Given the description of an element on the screen output the (x, y) to click on. 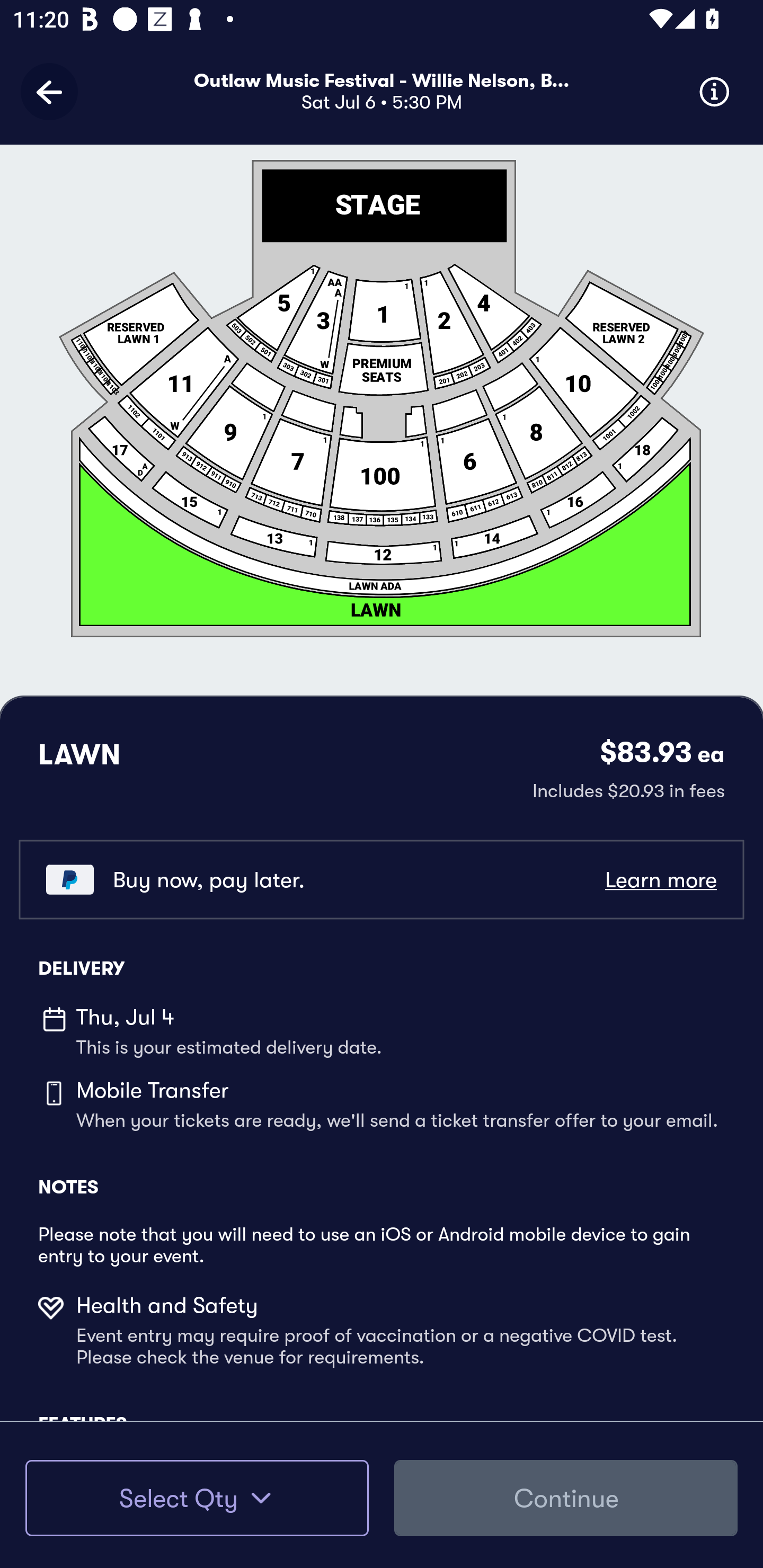
Learn more (660, 880)
Select Qty (196, 1497)
Continue (565, 1497)
